Given the description of an element on the screen output the (x, y) to click on. 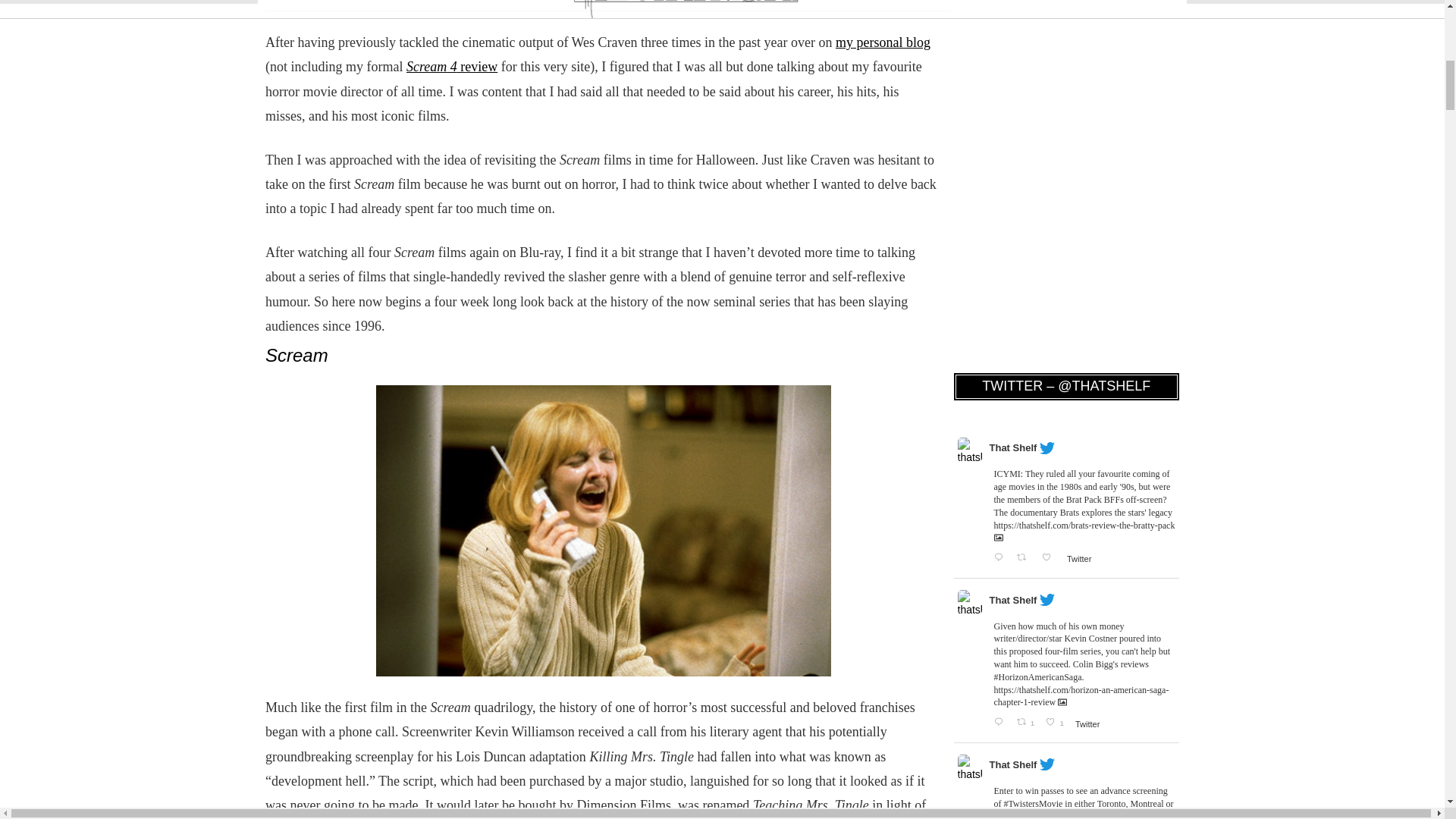
Scream 4 review (451, 66)
my personal blog (882, 42)
Drew Barrymore in Wes Craven's "Scream" (603, 530)
